Given the description of an element on the screen output the (x, y) to click on. 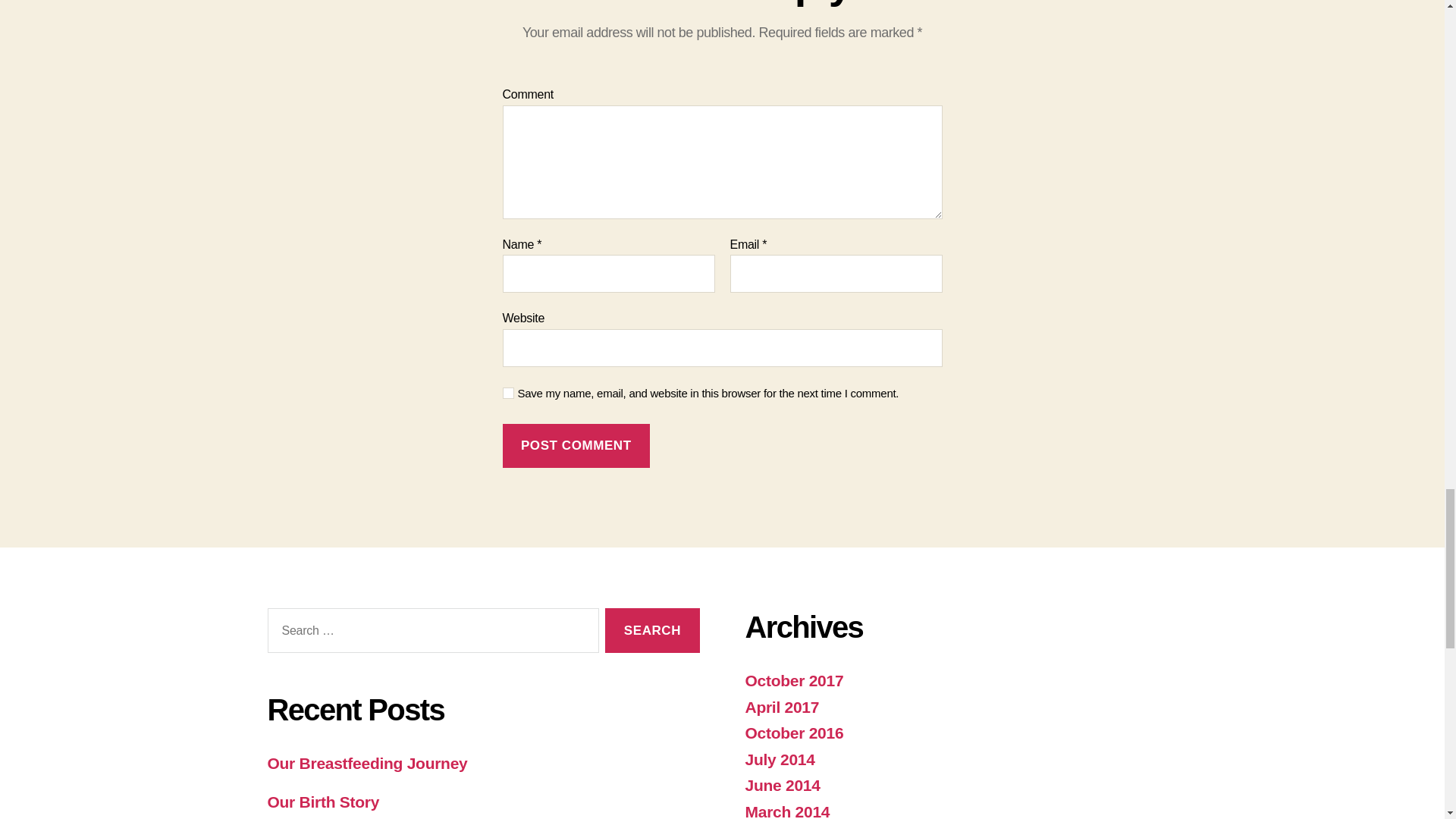
April 2017 (781, 706)
Our Breastfeeding Journey (366, 763)
Search (651, 630)
October 2016 (793, 732)
Search (651, 630)
Our Birth Story (322, 801)
June 2014 (781, 784)
October 2017 (793, 680)
yes (507, 392)
Post Comment (575, 446)
Post Comment (575, 446)
July 2014 (778, 759)
Search (651, 630)
March 2014 (786, 811)
